Given the description of an element on the screen output the (x, y) to click on. 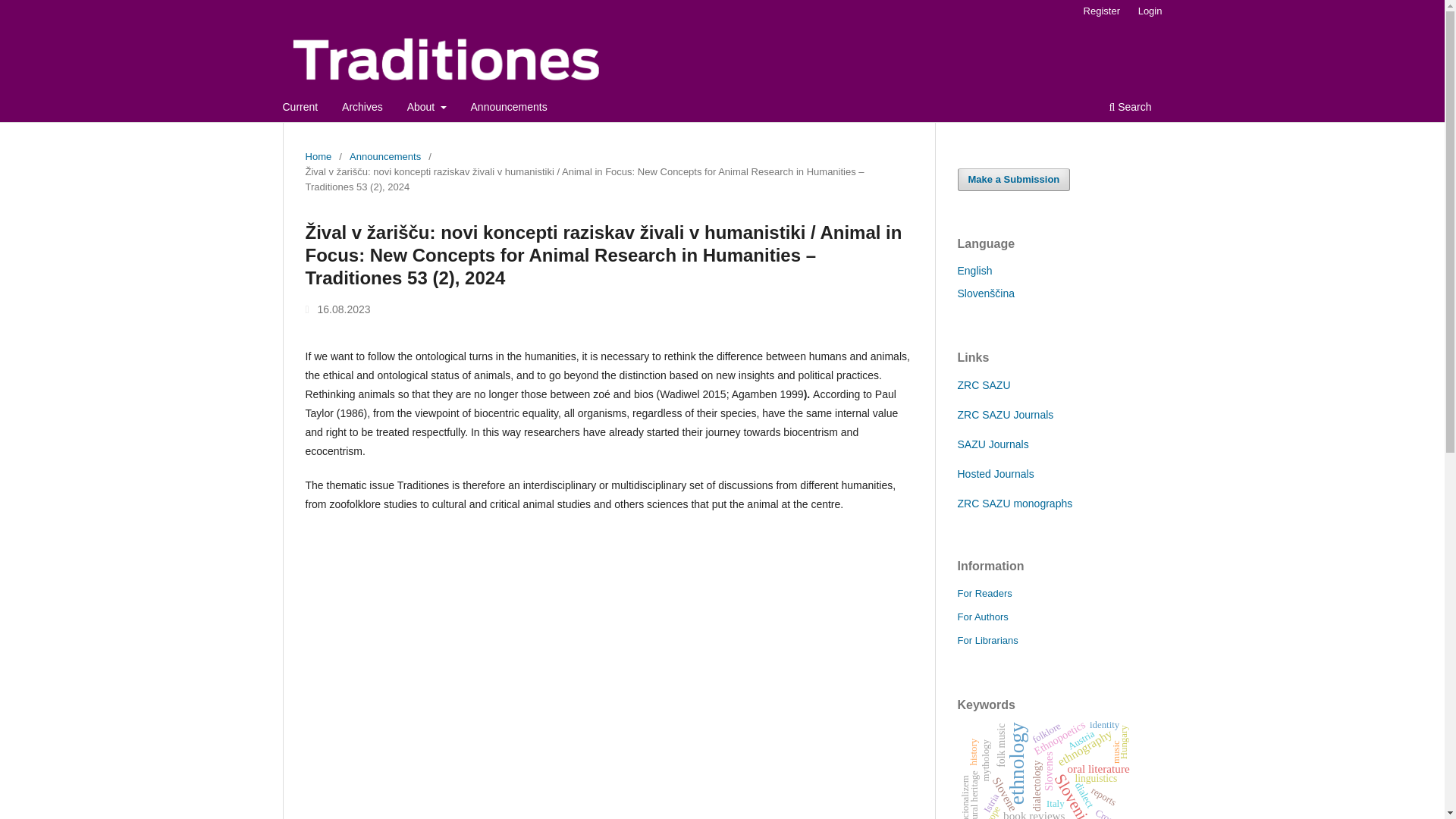
Login (1150, 11)
SAZU Journals (991, 444)
Announcements (384, 156)
Archives (362, 108)
ZRC SAZU Journals (1004, 414)
English (973, 270)
Make a Submission (1013, 179)
Hosted Journals (994, 473)
Current (300, 108)
Home (317, 156)
